Given the description of an element on the screen output the (x, y) to click on. 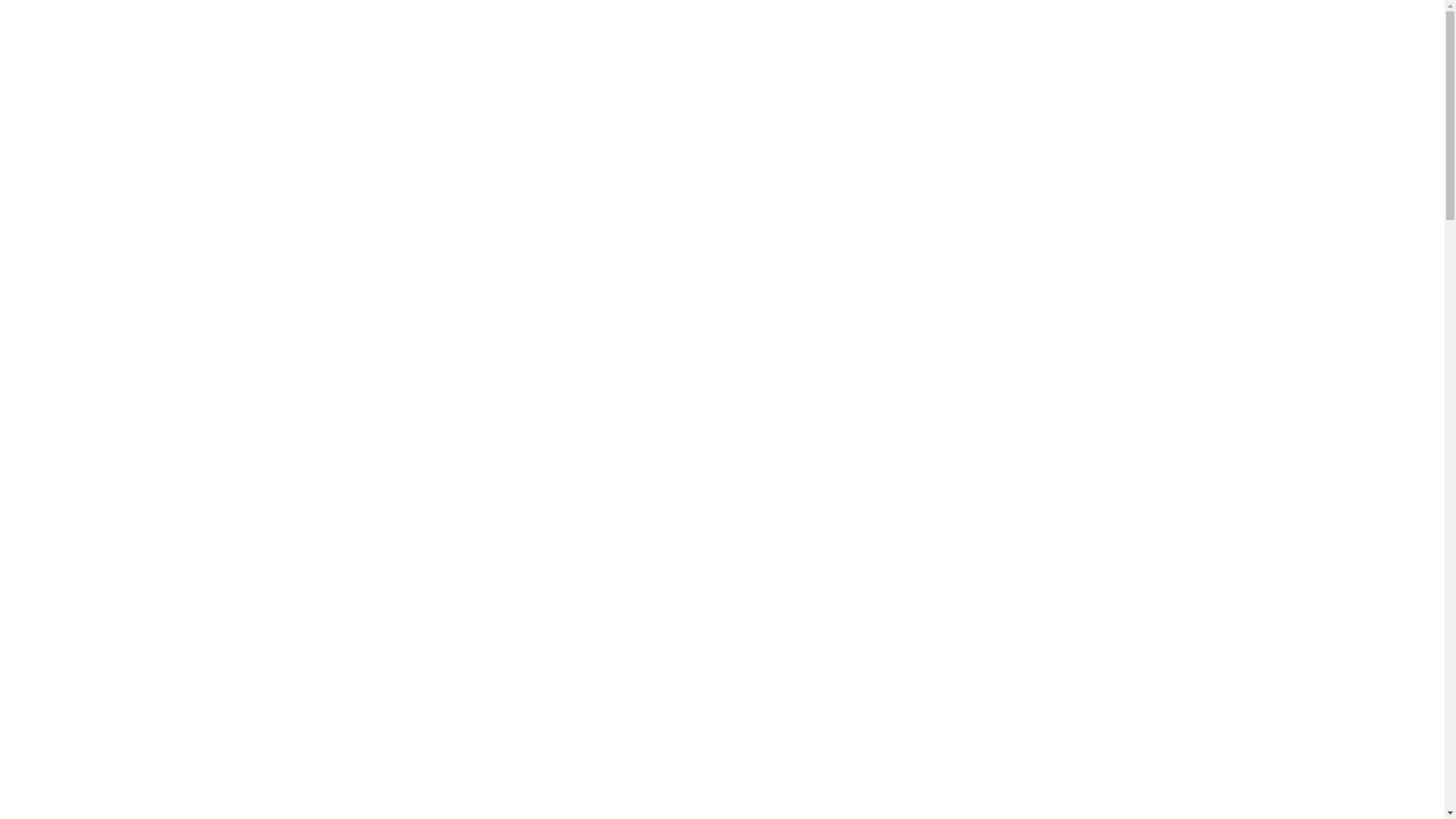
BODYVISION CLINIC
SKIN & BODY Element type: text (722, 38)
Contact Element type: text (947, 95)
Hair Treatments Element type: text (829, 95)
Body Treatments Element type: text (529, 95)
Skin Treatments Element type: text (681, 95)
